Given the description of an element on the screen output the (x, y) to click on. 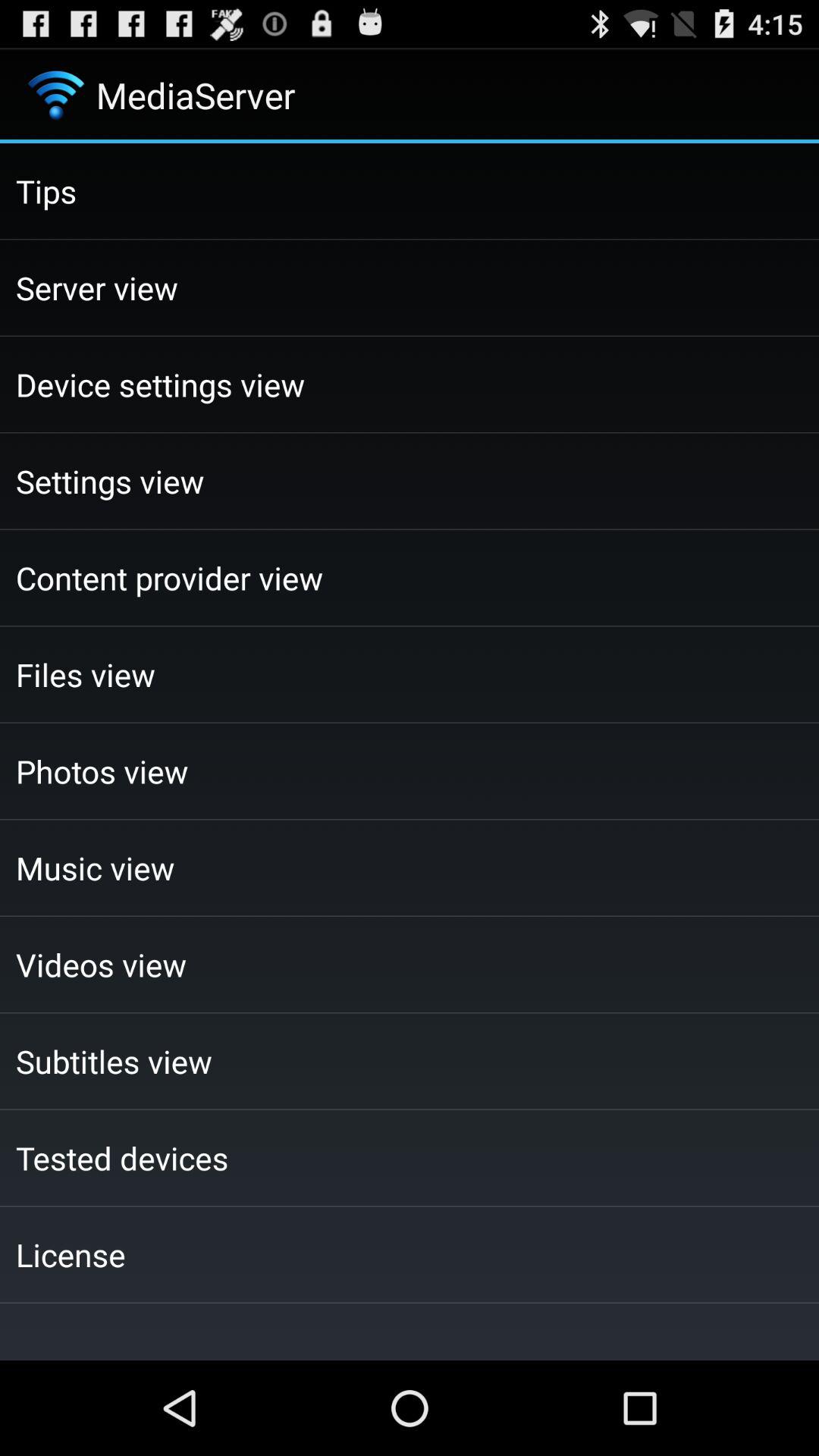
turn on the music view (409, 867)
